Given the description of an element on the screen output the (x, y) to click on. 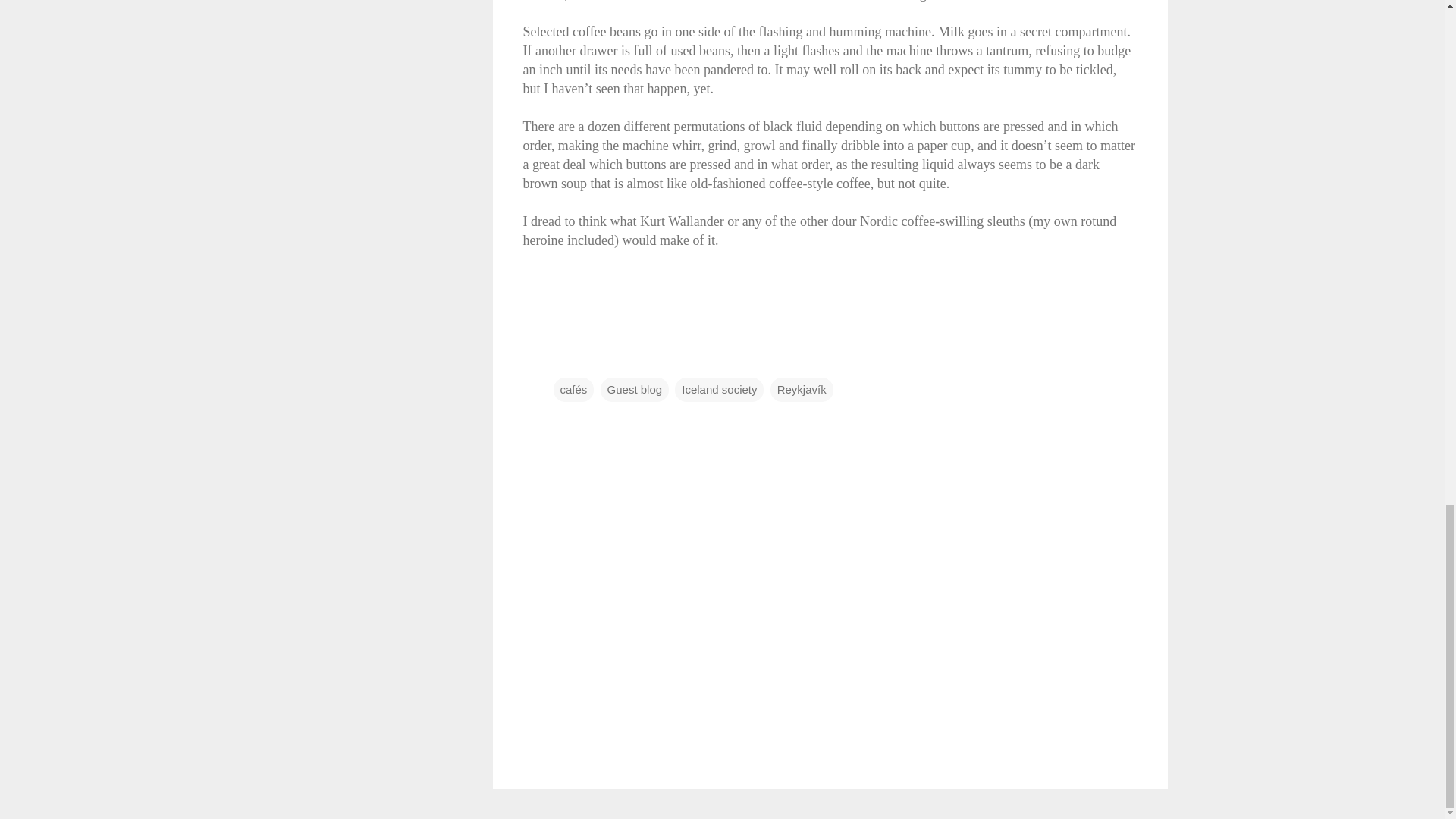
Guest blog (634, 388)
Email Post (562, 358)
Iceland society (718, 388)
